Given the description of an element on the screen output the (x, y) to click on. 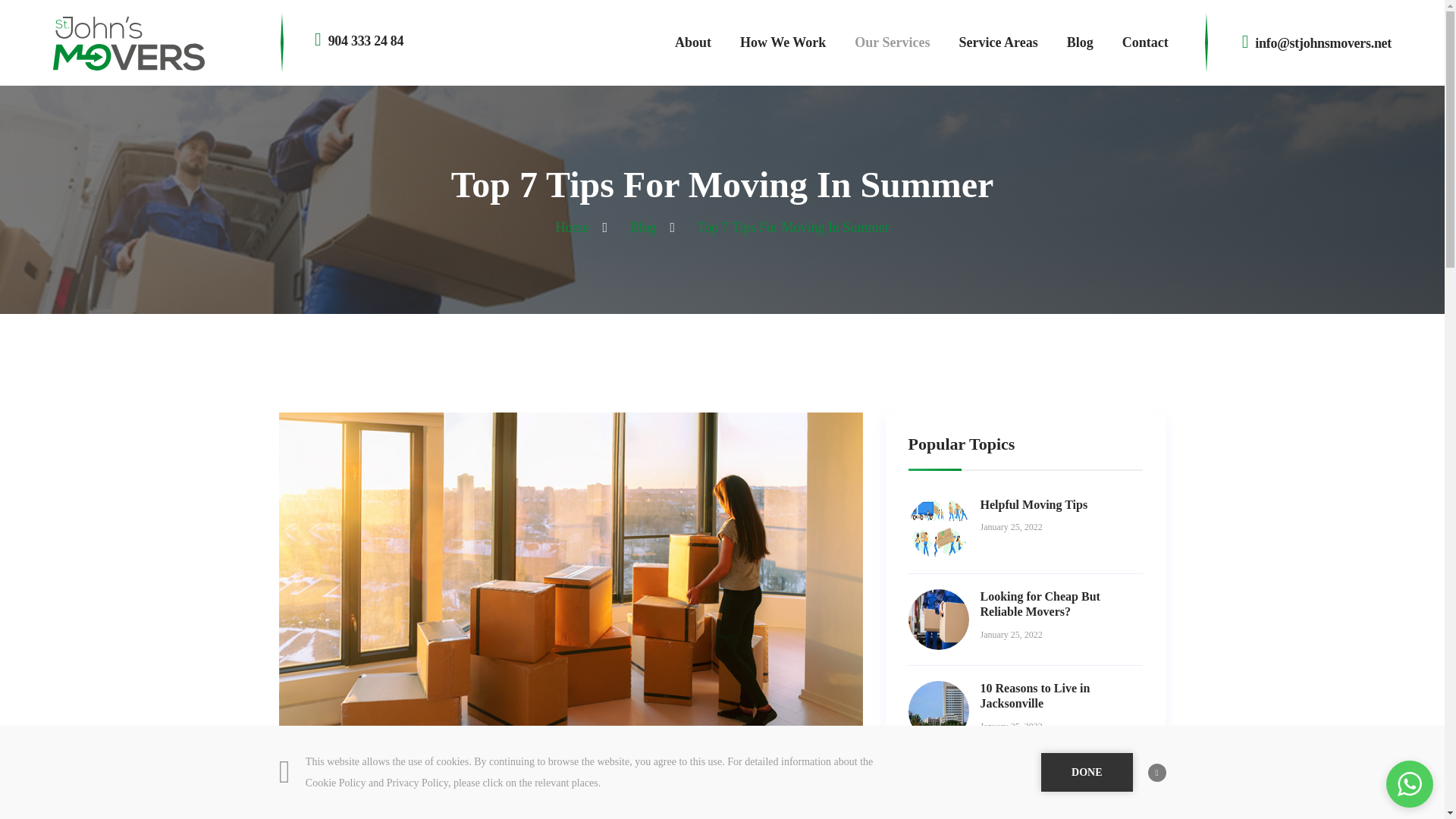
Our Services (892, 42)
About (693, 42)
Service Areas (998, 42)
Looking for Cheap But Reliable Movers? (1039, 604)
10 Reasons to Live in Jacksonville (1034, 695)
Contact (1145, 42)
Home (572, 227)
Top 7 Tips For Moving In Summer (793, 227)
Helpful Moving Tips (1033, 504)
Blog (643, 227)
Moving to Brooklyn in Jacksonville, FL? (1038, 787)
How We Work (782, 42)
DONE (1086, 771)
Blog (1080, 42)
